Given the description of an element on the screen output the (x, y) to click on. 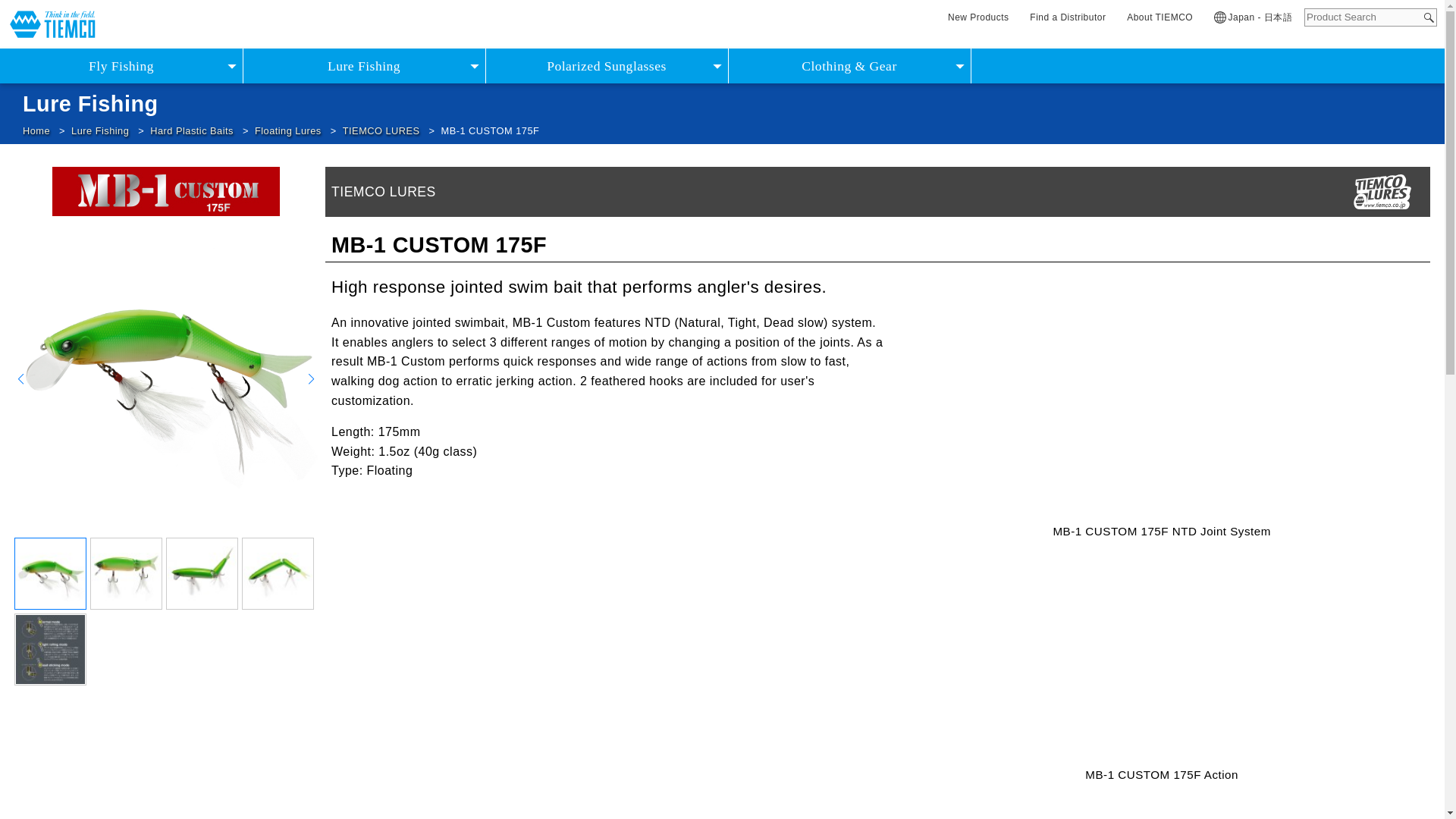
Lure Fishing (364, 65)
Search (1428, 17)
TIEMCO (53, 24)
About TIEMCO (1159, 17)
Find a Distributor (1067, 17)
New Products (978, 17)
Fly Fishing (121, 65)
